Given the description of an element on the screen output the (x, y) to click on. 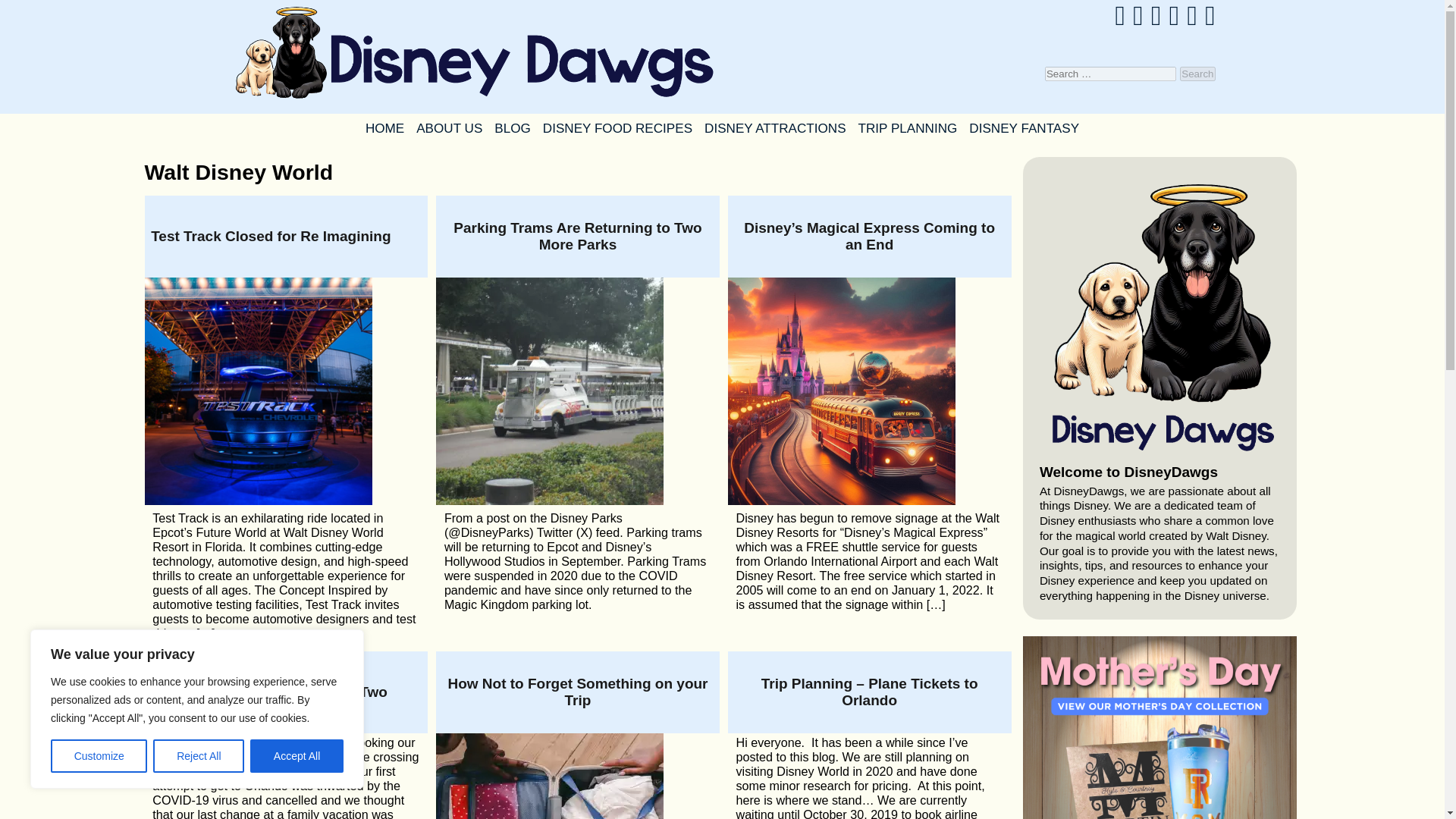
BLOG (512, 126)
ABOUT US (448, 126)
DISNEY ATTRACTIONS (774, 126)
Search (1196, 73)
Reject All (198, 756)
Customize (98, 756)
Search (1196, 73)
HOME (384, 126)
DISNEY FOOD RECIPES (617, 126)
Search (1196, 73)
Accept All (296, 756)
